Given the description of an element on the screen output the (x, y) to click on. 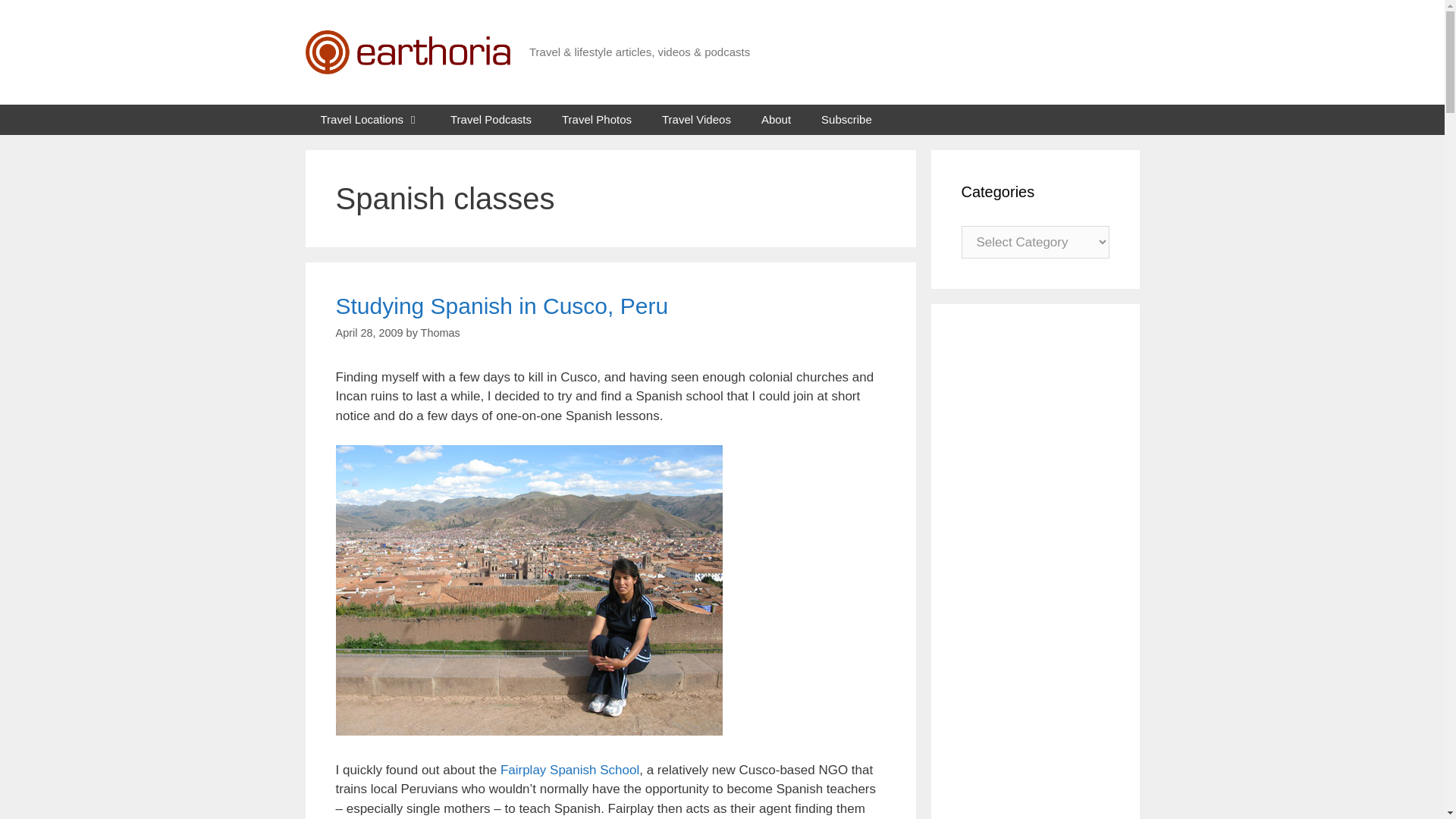
April 28, 2009 (368, 332)
Subscribe (846, 119)
Fairplay Spanish School (569, 769)
Travel Locations (369, 119)
Travel Podcasts (491, 119)
Studying Spanish in Cusco, Peru (501, 305)
Travel Photos (596, 119)
View all posts by Thomas (440, 332)
Earthoria (406, 52)
6:27 pm (368, 332)
